Given the description of an element on the screen output the (x, y) to click on. 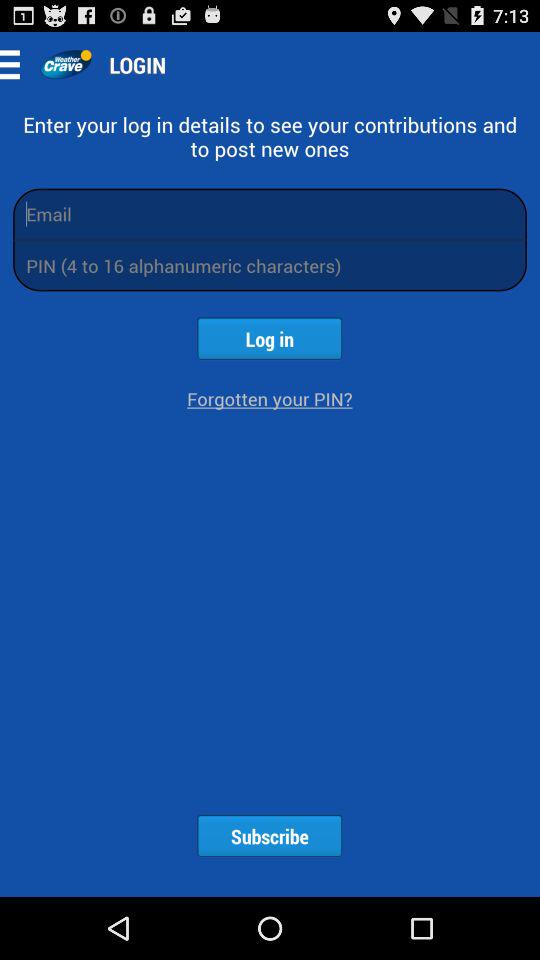
launch app next to login icon (65, 64)
